Given the description of an element on the screen output the (x, y) to click on. 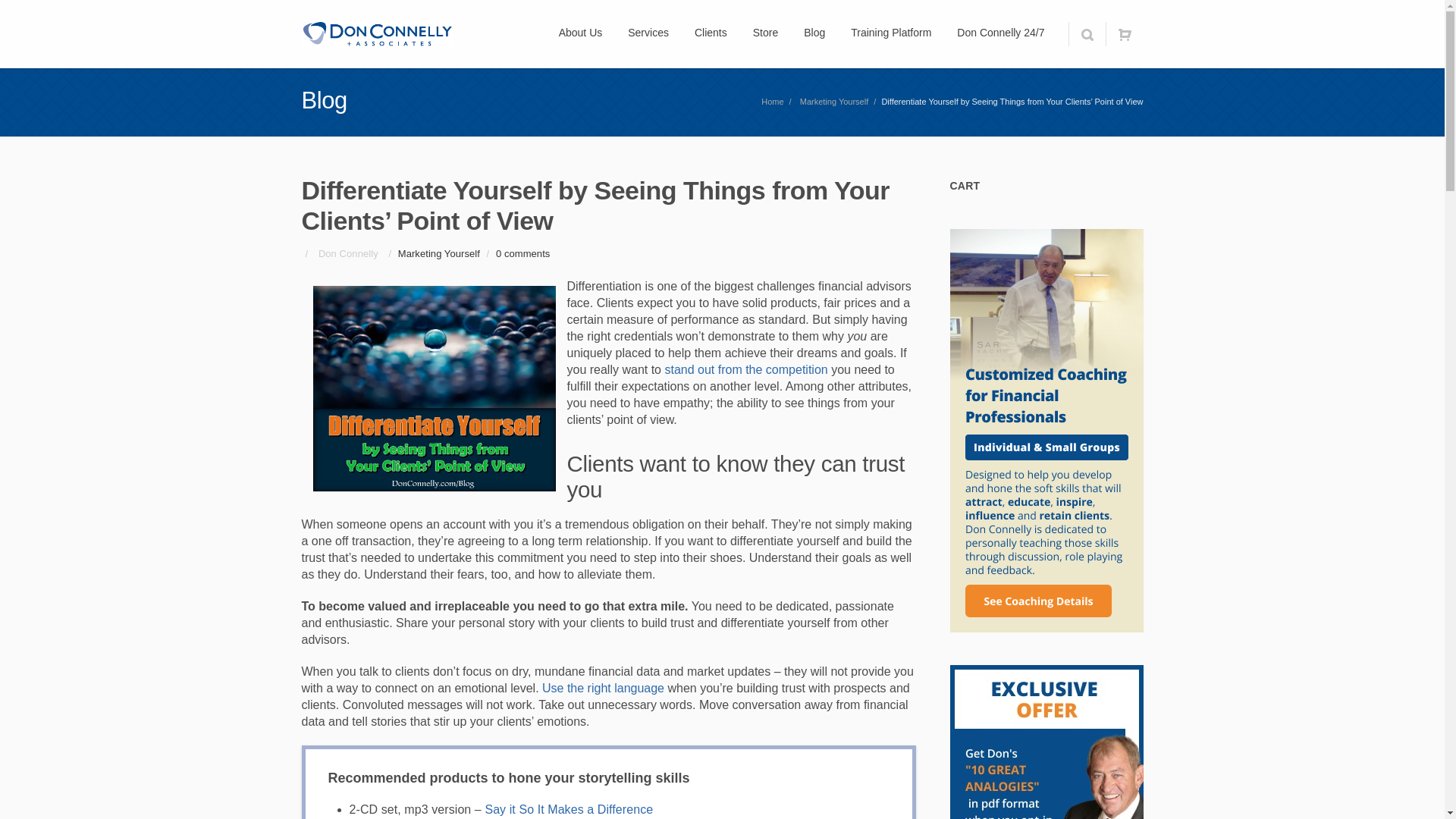
Marketing Yourself (833, 101)
Search (1086, 33)
stand out from the competition (745, 369)
Training Platform (890, 33)
communicate as intended (602, 687)
Home (772, 101)
Say it So It Makes a Difference (568, 809)
Marketing Yourself (438, 253)
0 comments (523, 253)
Distinctly Different - You Gotta Stand Out CD (745, 369)
